Given the description of an element on the screen output the (x, y) to click on. 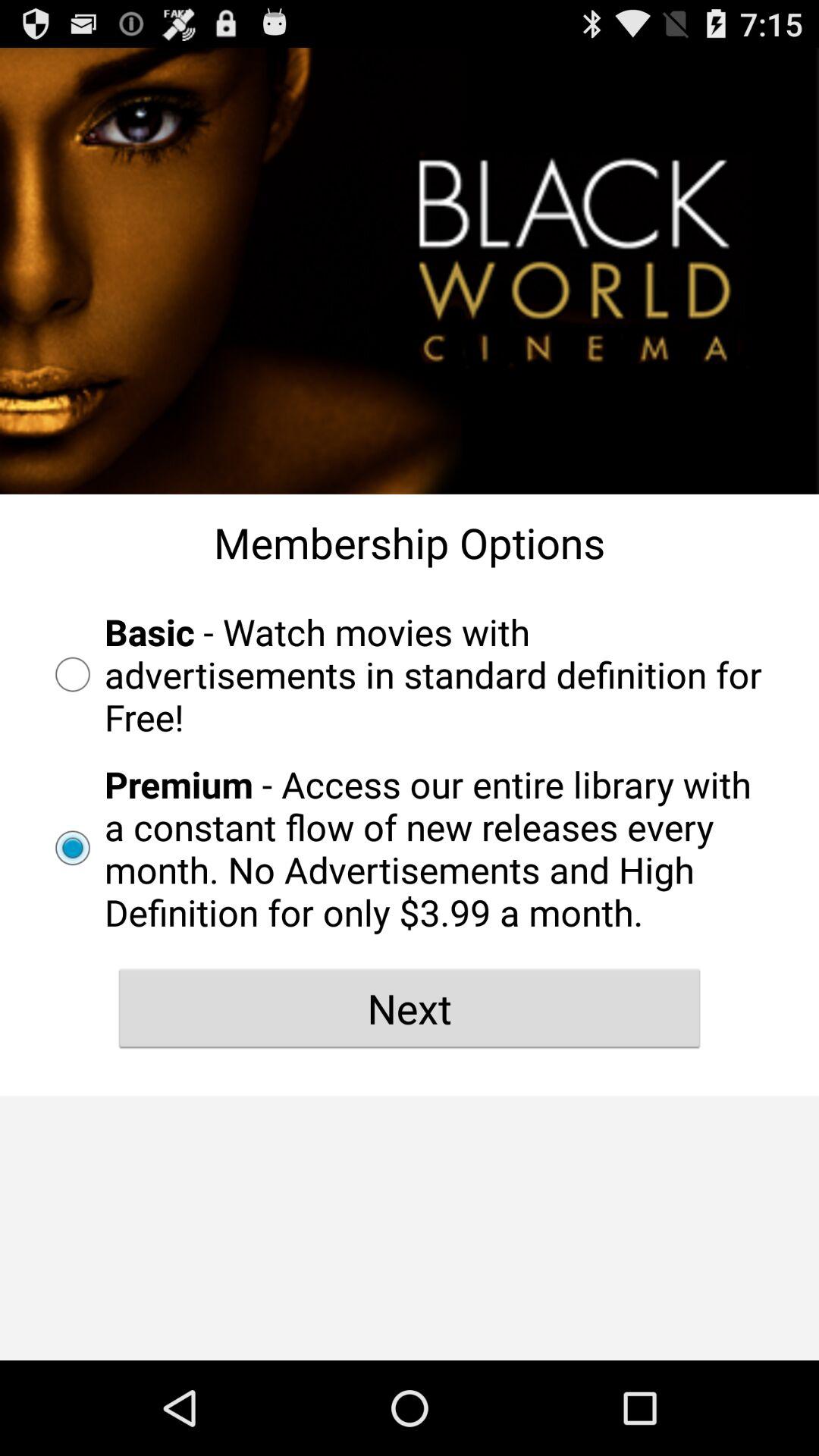
scroll to the premium access our (409, 847)
